Given the description of an element on the screen output the (x, y) to click on. 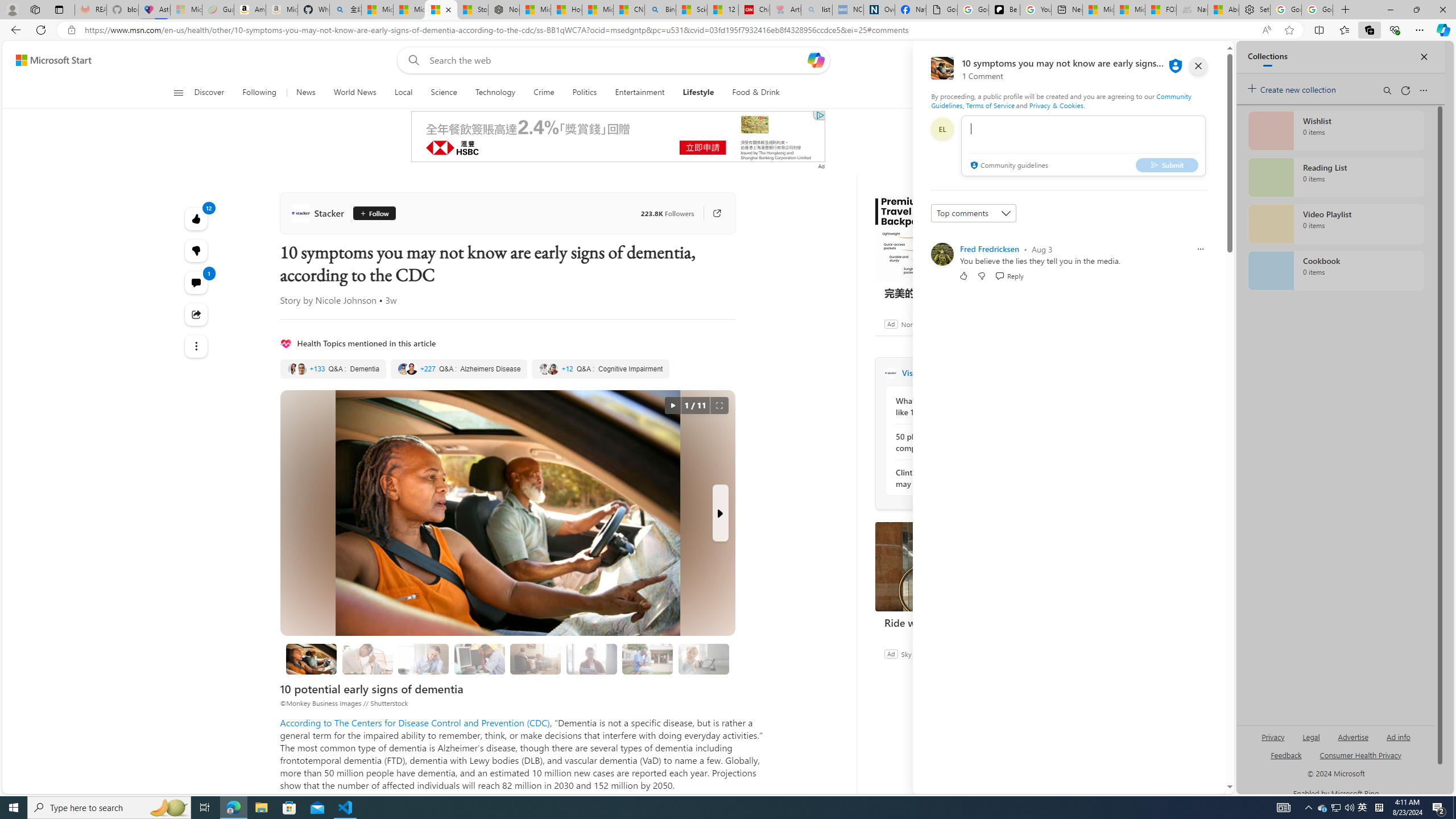
Nordace (914, 323)
World News (355, 92)
Memory loss that disrupts daily life (367, 658)
Next Slide (719, 512)
Ride with Experts (960, 566)
Skip to content (49, 59)
Arthritis: Ask Health Professionals - Sleeping (785, 9)
Politics (584, 92)
Alzheimers Disease (458, 368)
Ride with Experts (959, 622)
